Given the description of an element on the screen output the (x, y) to click on. 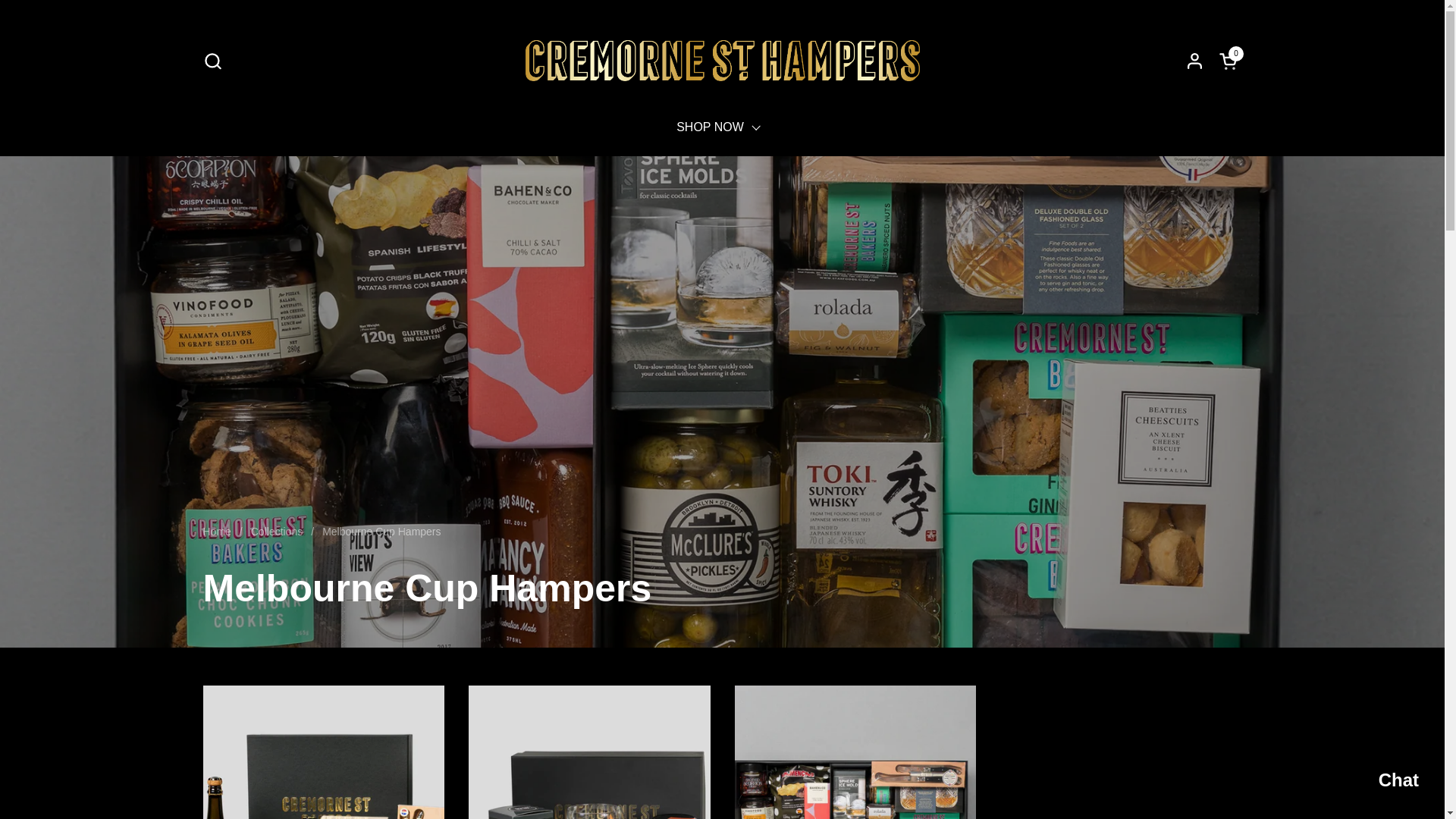
Cremorne Street Hampers (1230, 60)
Shopify online store chat (721, 60)
Open cart (1383, 781)
SHOP NOW (1230, 60)
Open search (718, 126)
Skip to content (212, 60)
